Given the description of an element on the screen output the (x, y) to click on. 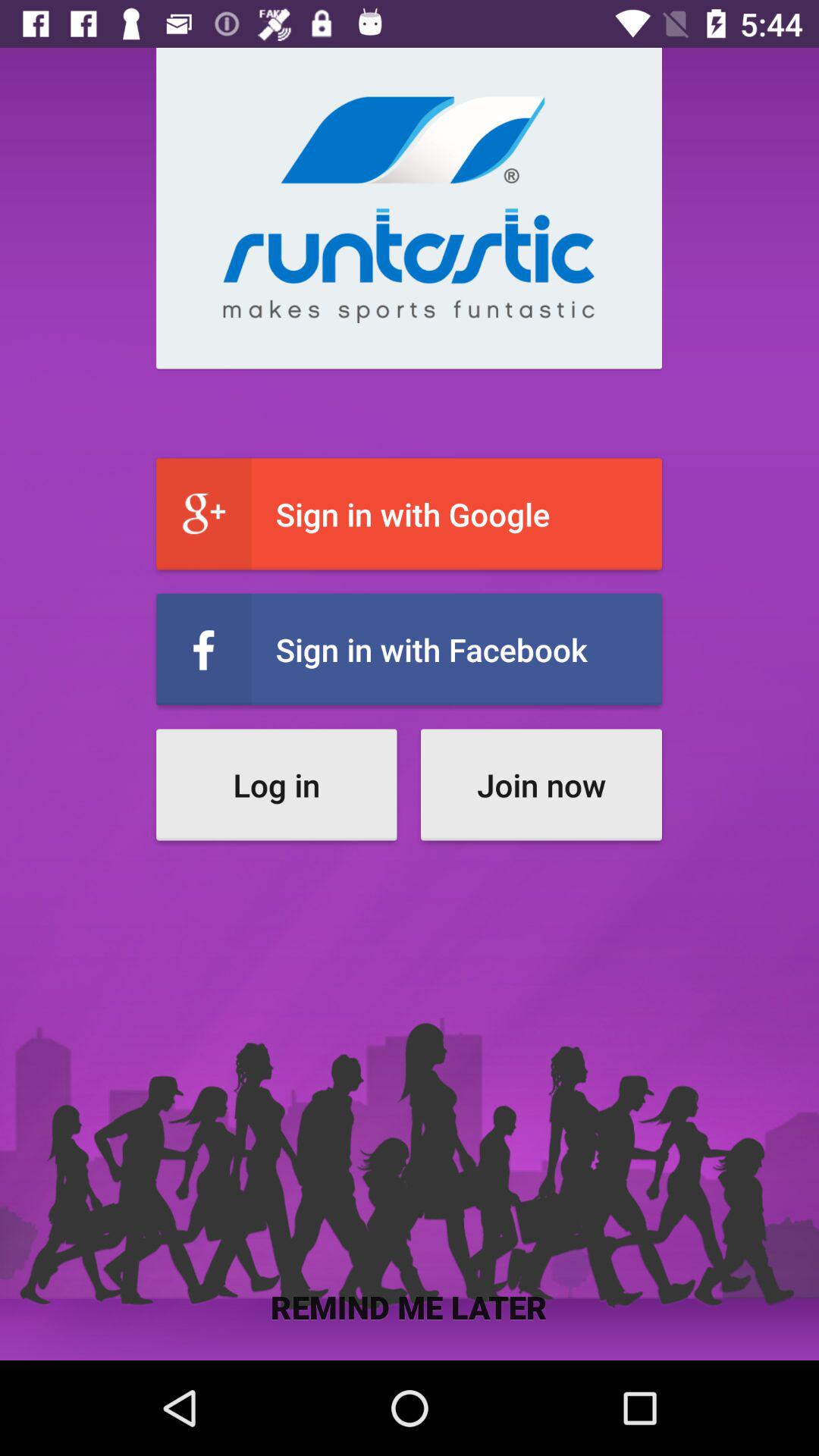
tap icon above remind me later item (276, 784)
